Given the description of an element on the screen output the (x, y) to click on. 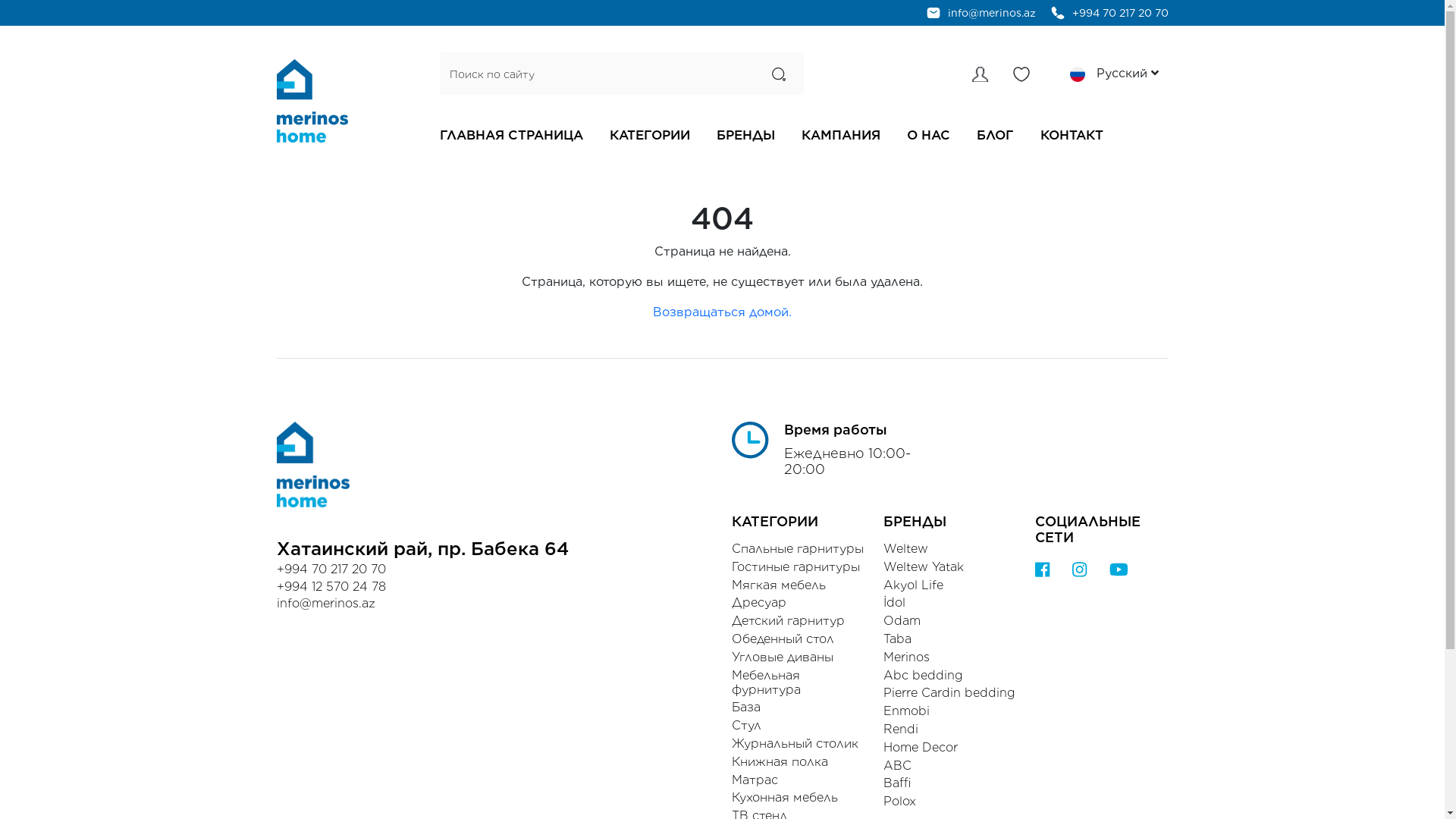
Akyol Life Element type: text (949, 584)
Weltew Yatak Element type: text (949, 566)
Pierre Cardin bedding Element type: text (949, 692)
Taba Element type: text (949, 638)
info@merinos.az Element type: text (991, 12)
Home Decor Element type: text (949, 747)
Merinos Element type: text (949, 656)
Baffi Element type: text (949, 782)
Abc bedding Element type: text (949, 675)
Rendi Element type: text (949, 728)
Weltew Element type: text (949, 548)
Polox Element type: text (949, 800)
Enmobi Element type: text (949, 710)
ABC Element type: text (949, 765)
Odam Element type: text (949, 620)
